Given the description of an element on the screen output the (x, y) to click on. 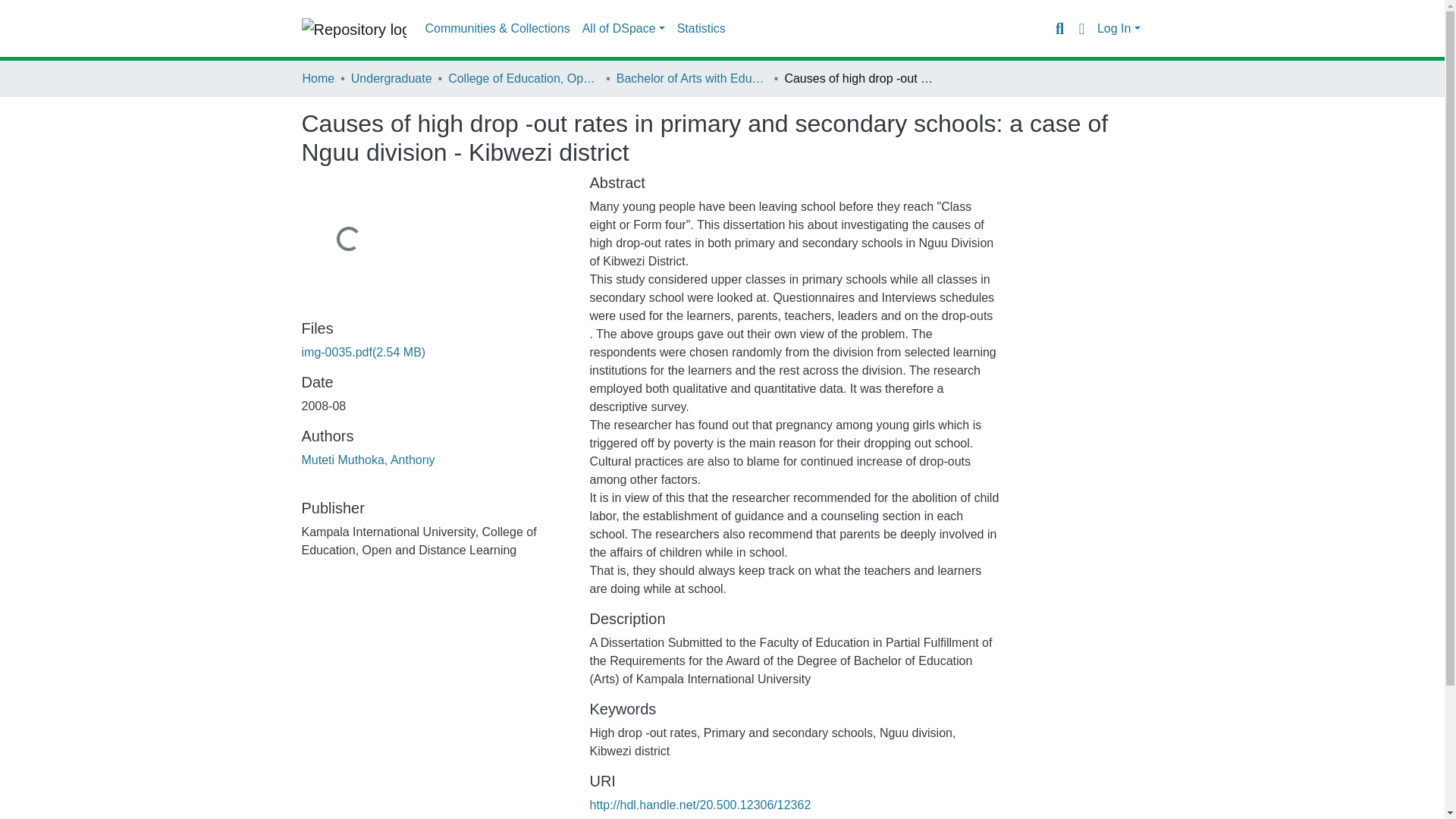
Language switch (1081, 28)
Bachelor of Arts with Education (691, 78)
College of Education, Open and Distance Learning (523, 78)
Undergraduate (391, 78)
Search (1058, 28)
Statistics (701, 28)
Statistics (701, 28)
All of DSpace (623, 28)
Home (317, 78)
Muteti Muthoka, Anthony (368, 459)
